Given the description of an element on the screen output the (x, y) to click on. 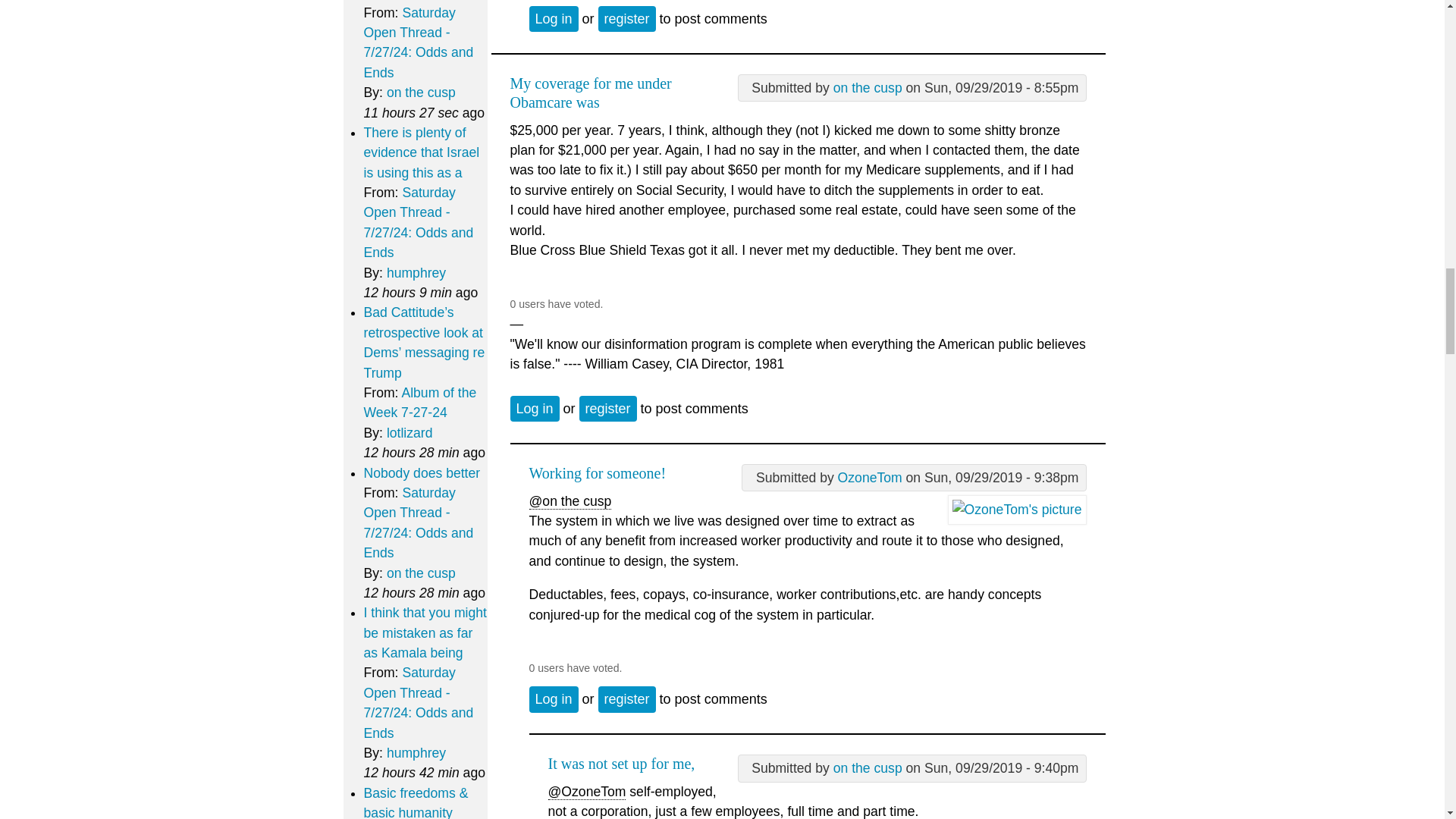
register (627, 18)
View user profile. (867, 767)
View user profile. (1016, 509)
View user profile. (870, 477)
View user profile. (867, 87)
Log in (553, 18)
OzoneTom's picture (1016, 509)
